Given the description of an element on the screen output the (x, y) to click on. 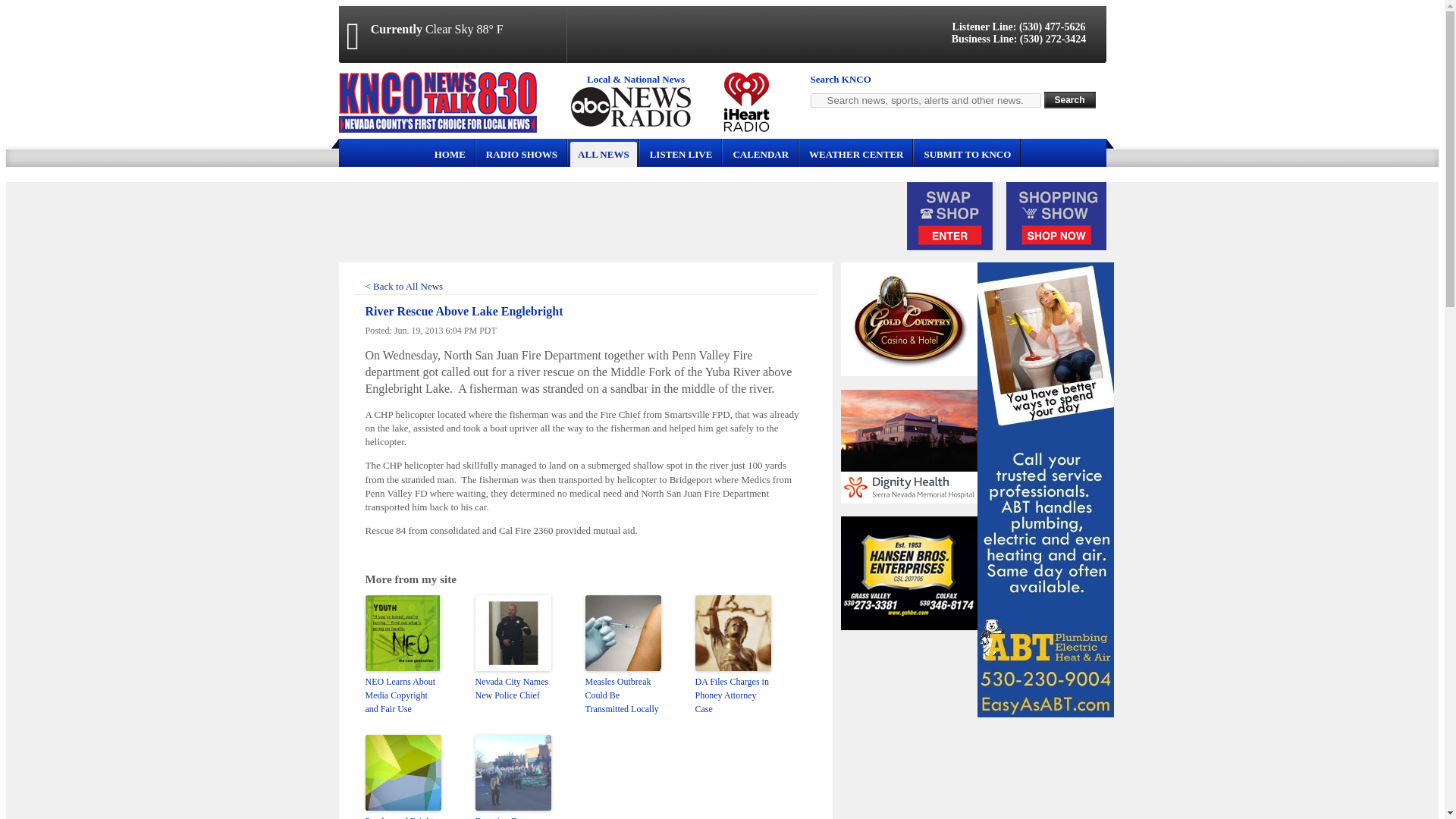
Permalink to River Rescue Above Lake Englebright (464, 310)
CALENDAR (760, 154)
DA Files Charges in Phoney Attorney Case (732, 694)
NEO Learns About Media Copyright and Fair Use (403, 694)
Nevada City Names New Police Chief (512, 687)
Measles Outbreak Could Be Transmitted Locally (623, 694)
WEATHER CENTER (856, 154)
LISTEN LIVE (681, 154)
Search (1068, 99)
ALL NEWS (603, 154)
HOME (449, 154)
RADIO SHOWS (521, 154)
SUBMIT TO KNCO (966, 154)
River Rescue Above Lake Englebright (464, 310)
Search (1068, 99)
